Given the description of an element on the screen output the (x, y) to click on. 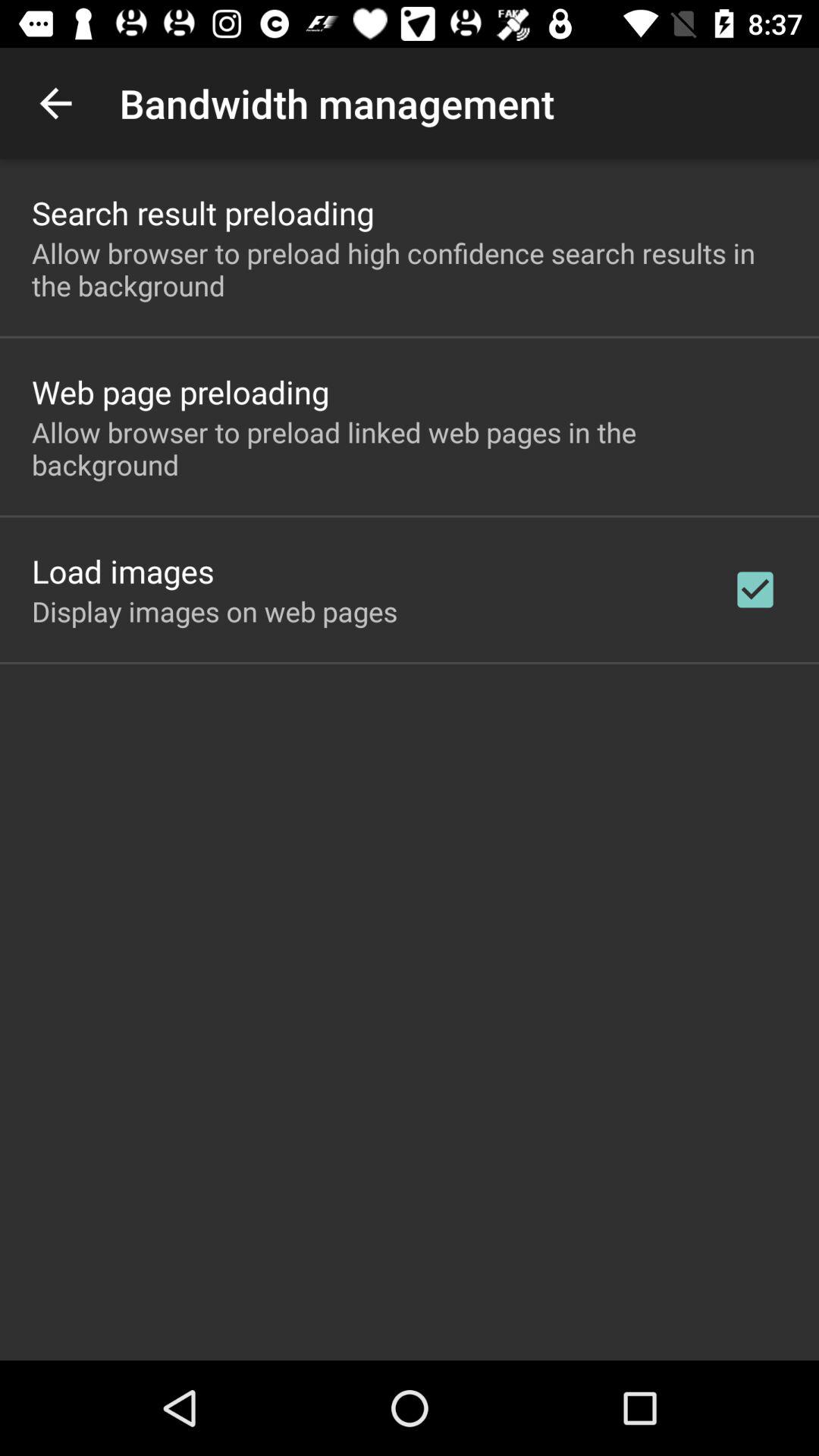
open checkbox on the right (755, 589)
